Given the description of an element on the screen output the (x, y) to click on. 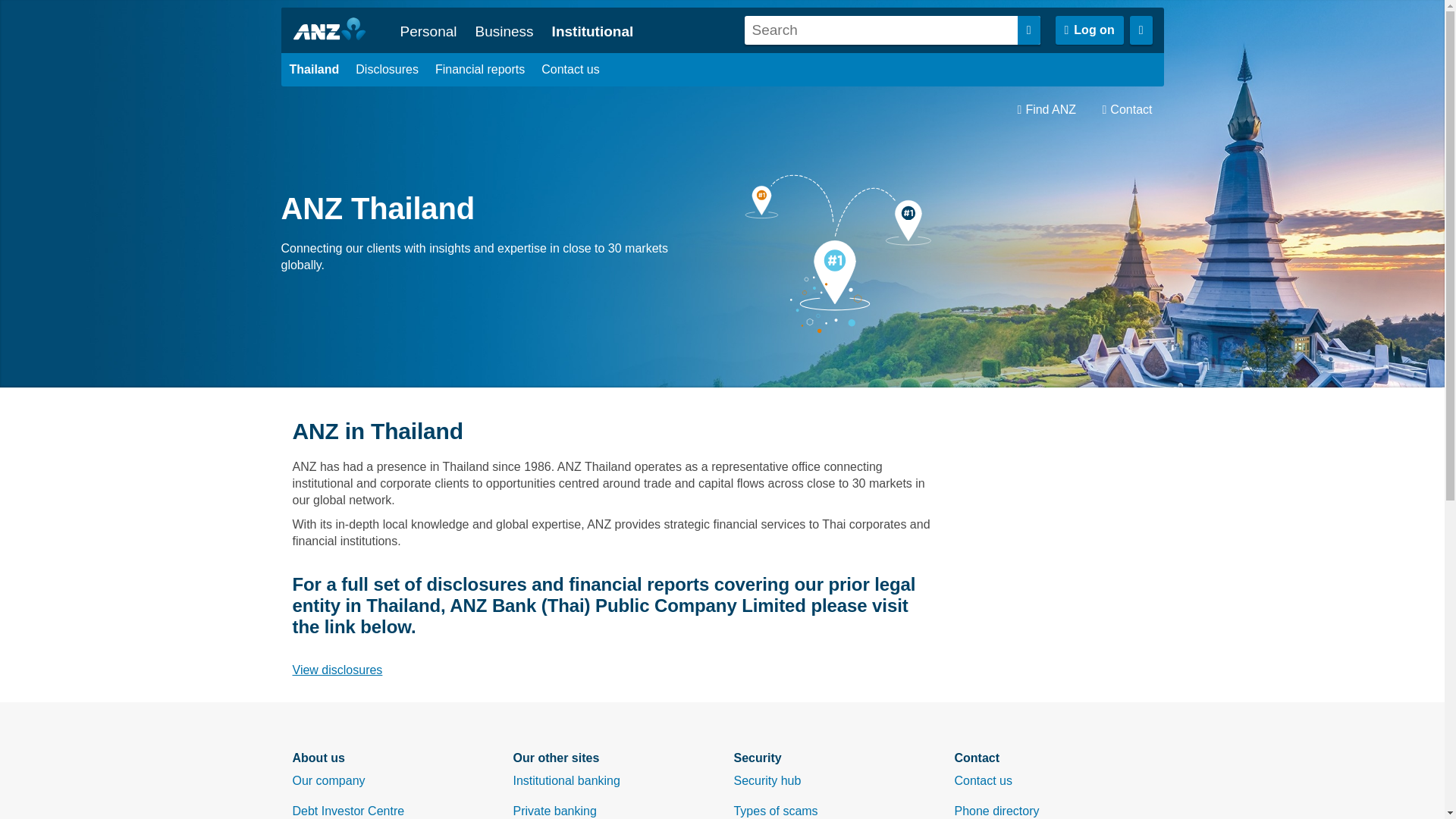
ANZ Logo (335, 30)
Business (503, 31)
Personal (428, 31)
Institutional (592, 31)
